Given the description of an element on the screen output the (x, y) to click on. 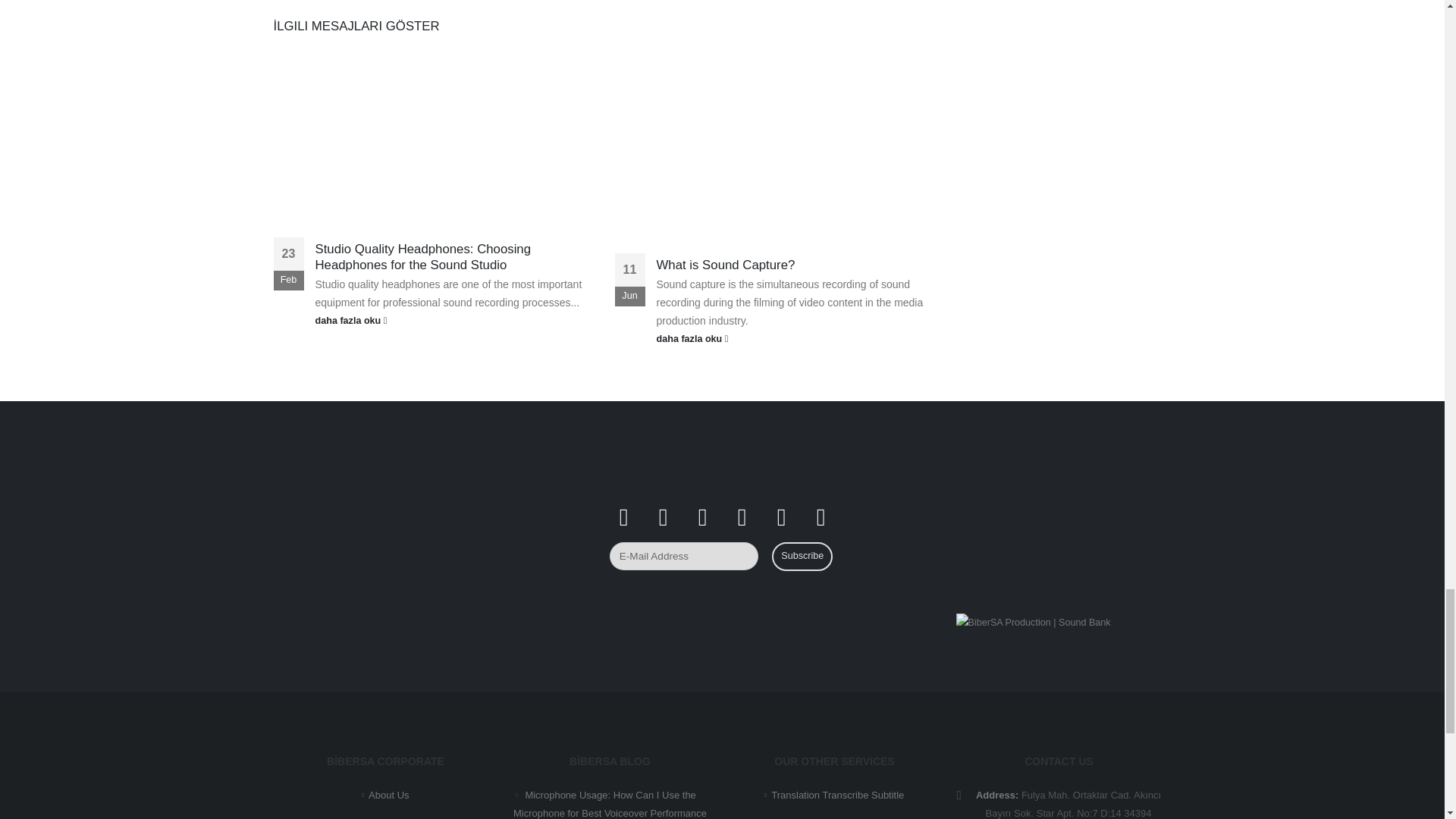
Subscribe (801, 556)
